Given the description of an element on the screen output the (x, y) to click on. 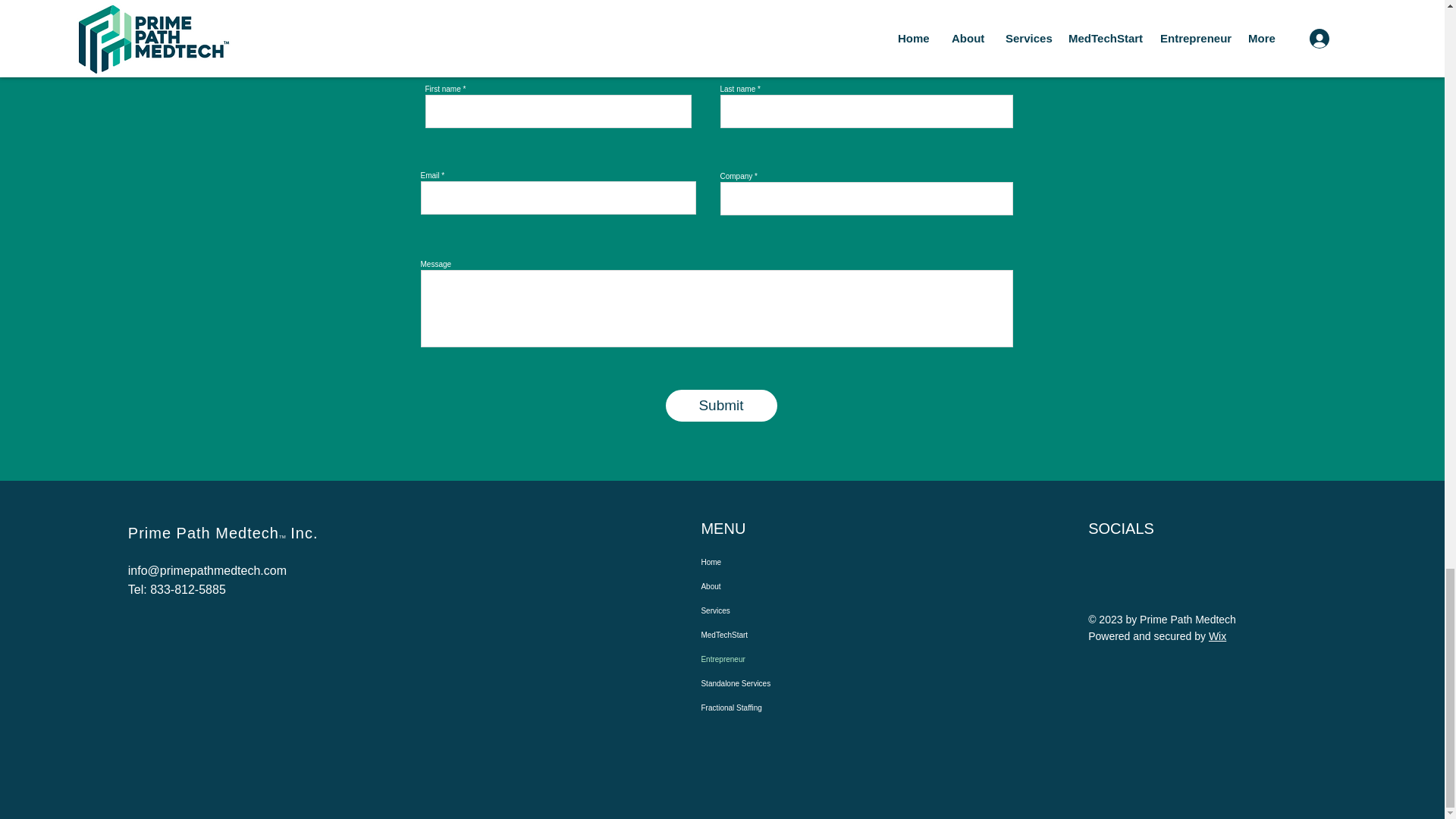
About (771, 586)
Entrepreneur (771, 659)
Fractional Staffing (771, 708)
Prime Path MedtechTM Inc. (223, 532)
Submit (721, 405)
Home (771, 562)
Standalone Services (771, 683)
MedTechStart (771, 635)
